Given the description of an element on the screen output the (x, y) to click on. 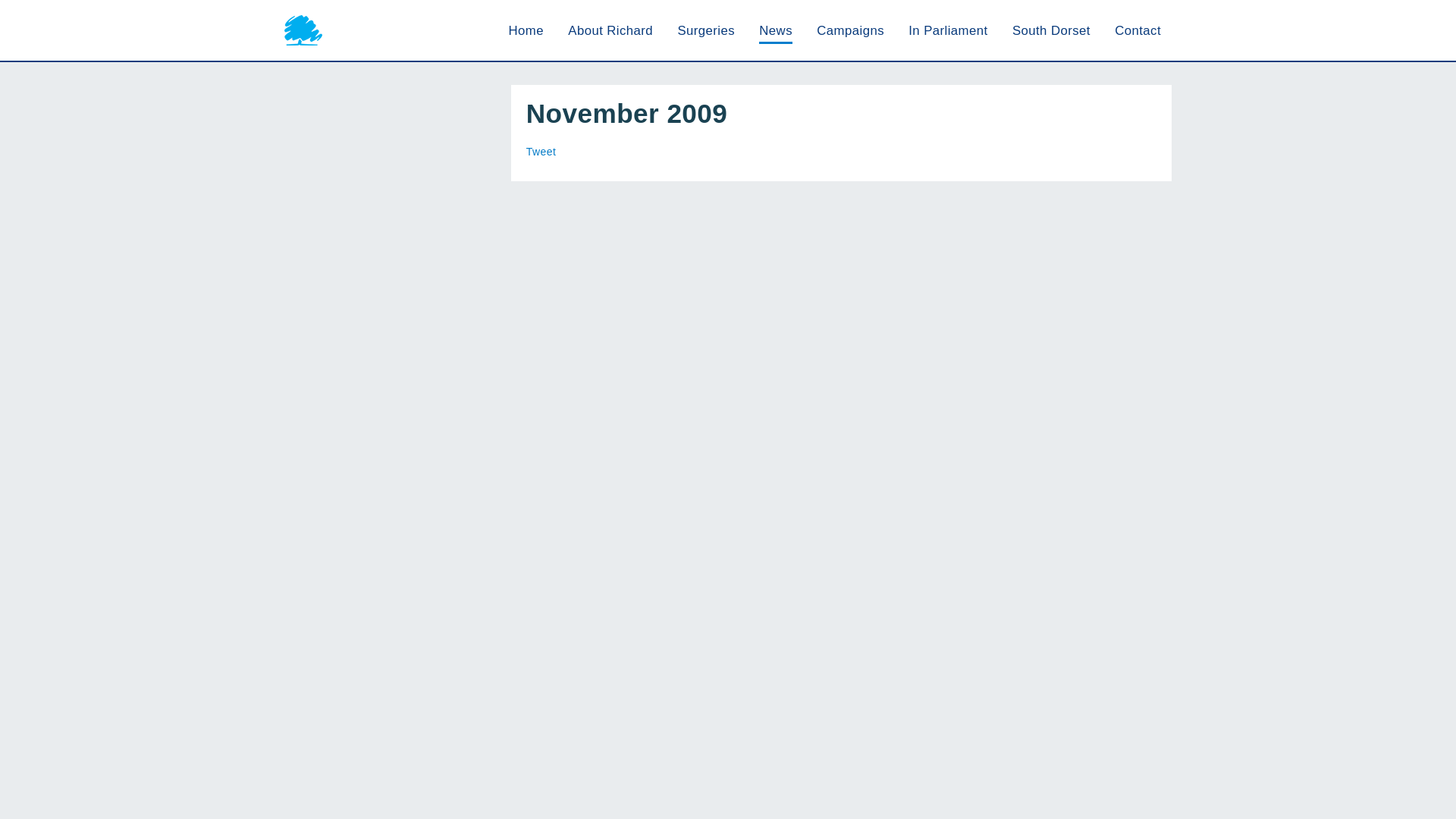
South Dorset (1050, 29)
About Richard (609, 29)
Tweet (540, 151)
News (775, 29)
In Parliament (947, 29)
Campaigns (849, 29)
Contact (1137, 29)
Home (525, 29)
Surgeries (706, 29)
